Given the description of an element on the screen output the (x, y) to click on. 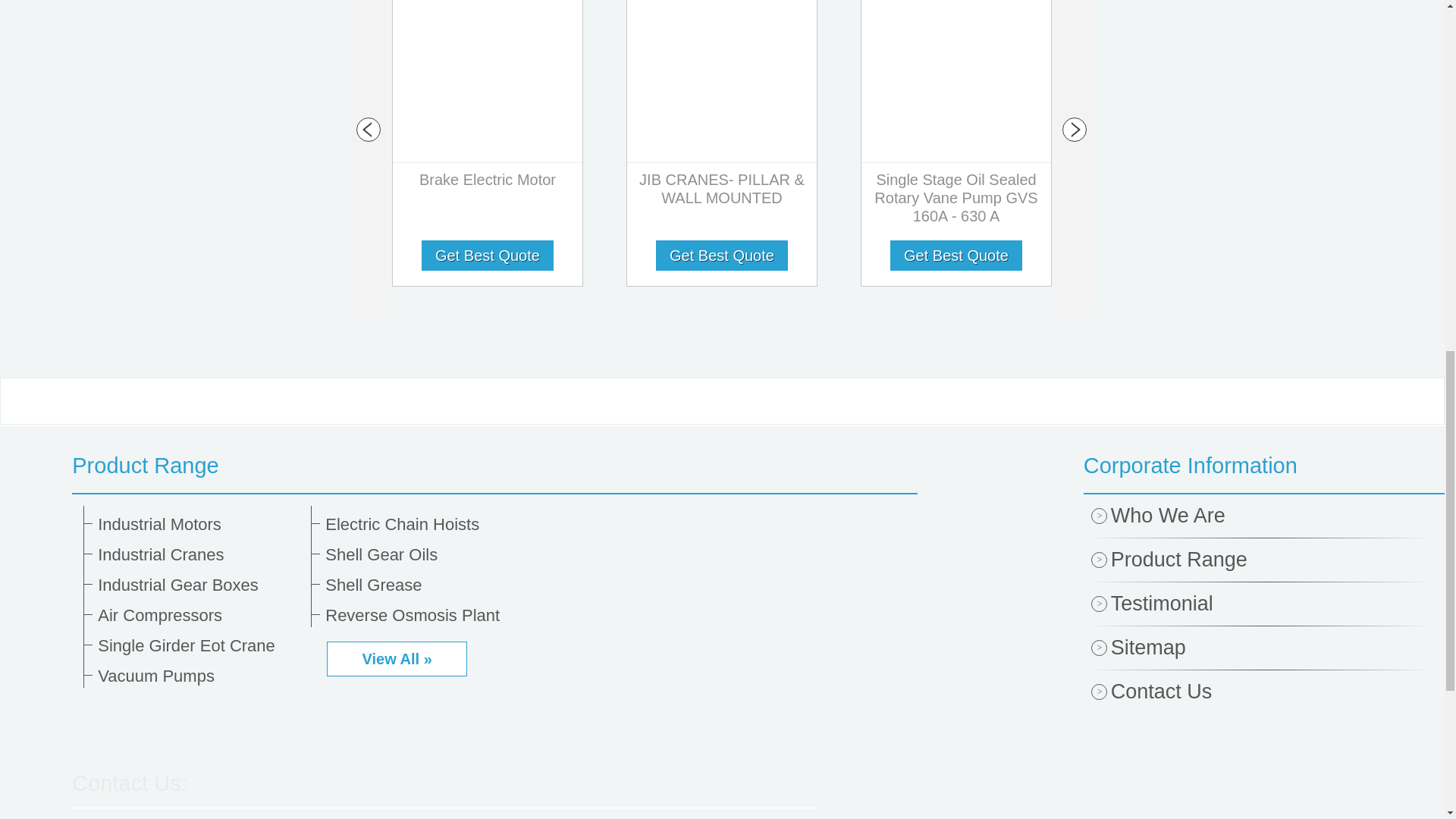
Product Range (494, 465)
Single Stage Oil Sealed Rotary Vane Pump GVS 160A - 630 A (956, 201)
Shell Grease (426, 585)
Reverse Osmosis Plant (426, 615)
Vacuum Pumps (198, 676)
Industrial Motors (198, 524)
Industrial Gear Boxes (198, 585)
Electric Chain Hoists (426, 524)
Industrial Cranes (198, 555)
Shell Gear Oils (426, 555)
